Given the description of an element on the screen output the (x, y) to click on. 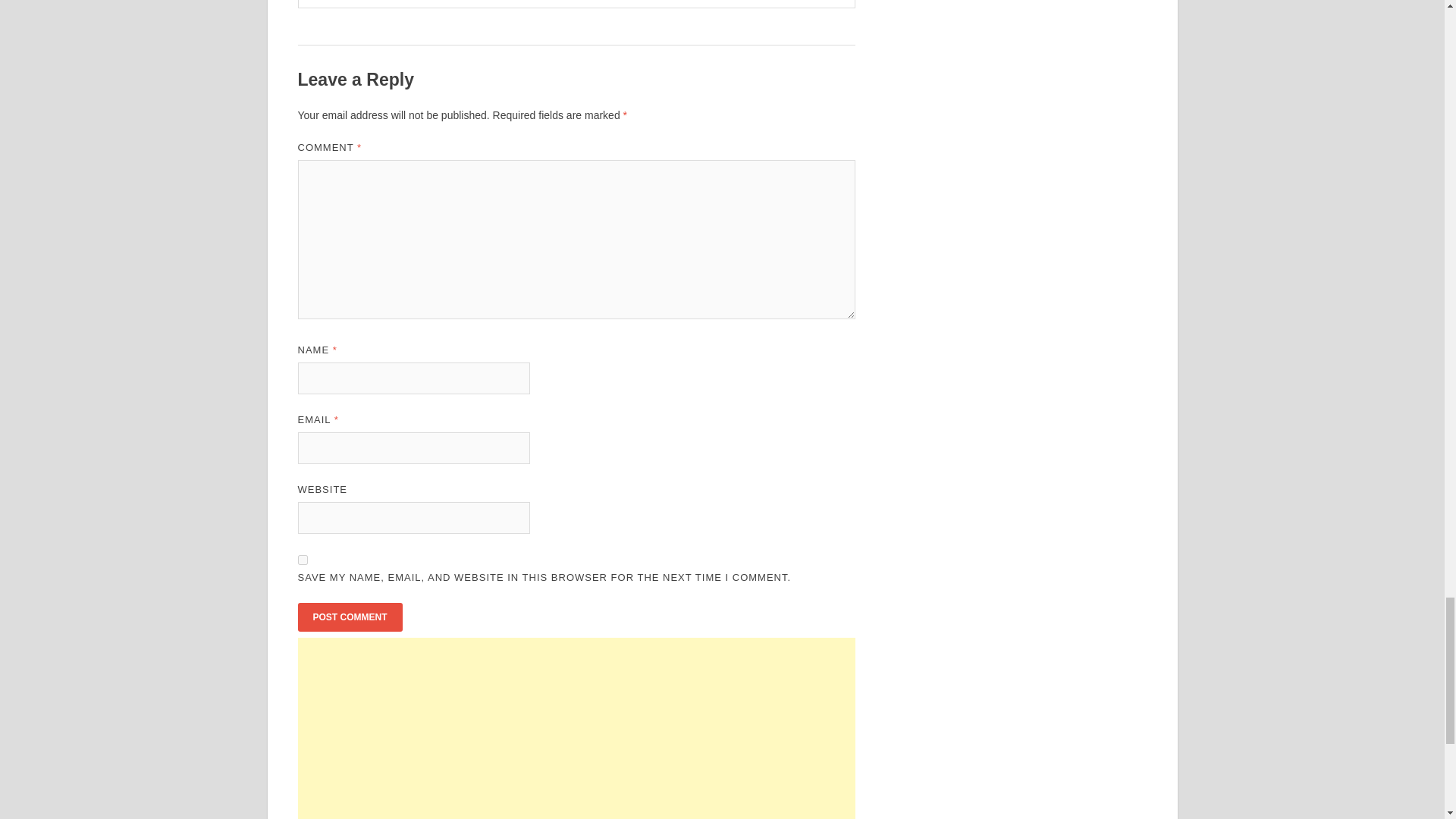
yes (302, 560)
Post Comment (349, 616)
Post Comment (349, 616)
